Given the description of an element on the screen output the (x, y) to click on. 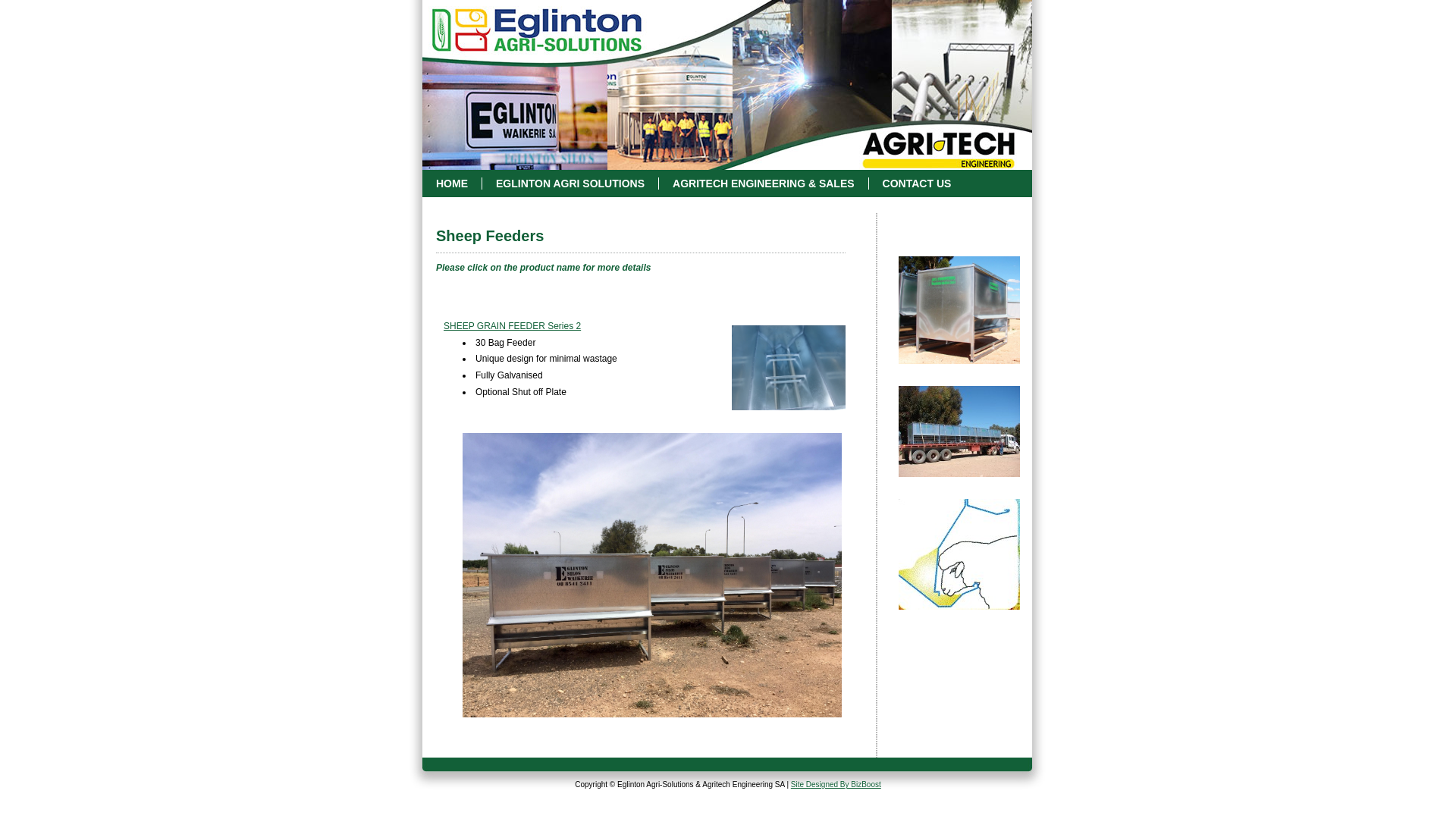
CONTACT US Element type: text (923, 183)
Site Designed By BizBoost Element type: text (835, 784)
SHEEP GRAIN FEEDER Series 2 Element type: text (511, 325)
EGLINTON AGRI SOLUTIONS Element type: text (576, 183)
AGRITECH ENGINEERING & SALES Element type: text (770, 183)
HOME Element type: text (459, 183)
